Given the description of an element on the screen output the (x, y) to click on. 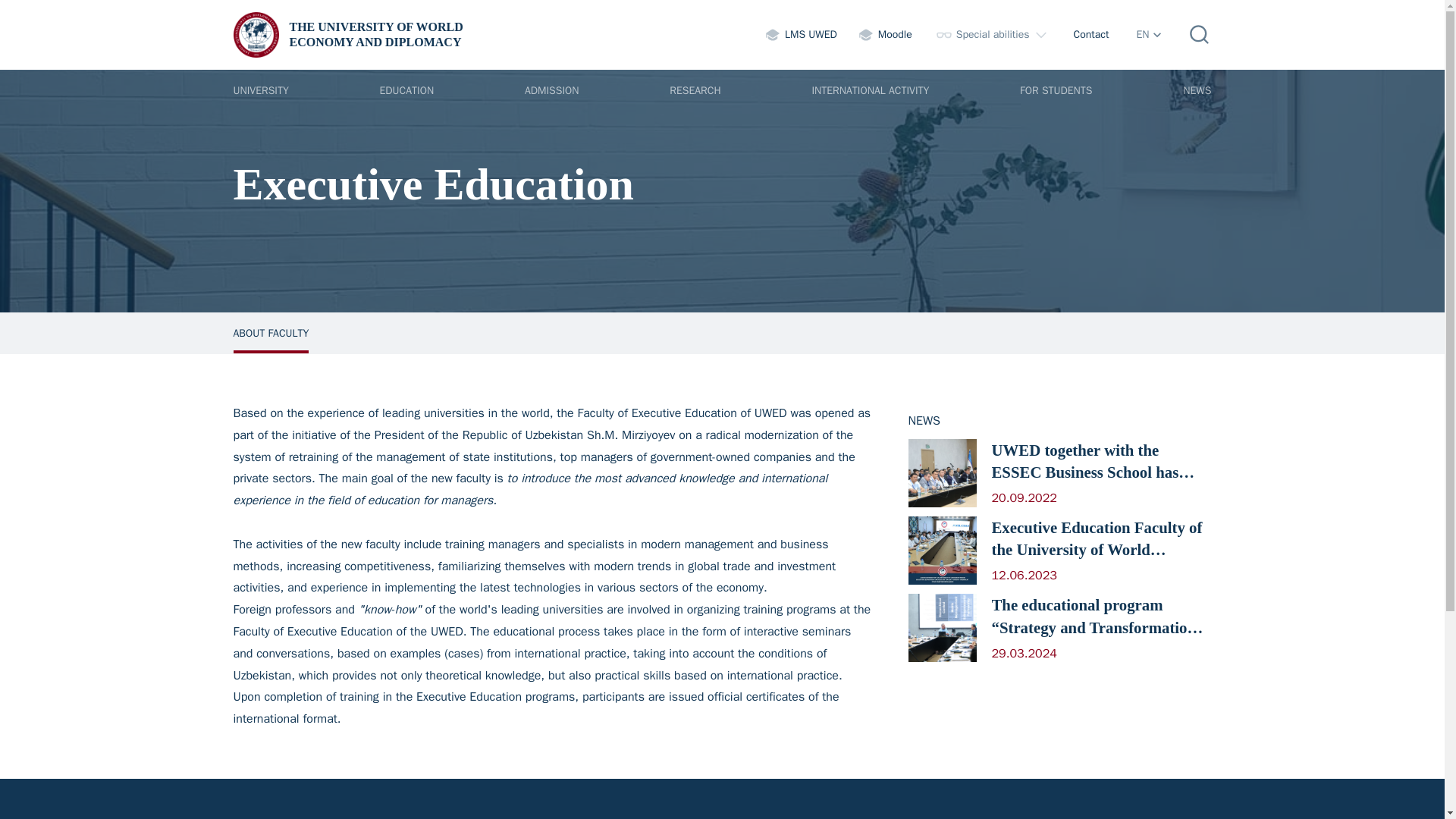
UNIVERSITY (260, 90)
EDUCATION (406, 90)
Moodle (885, 34)
LMS UWED (800, 34)
ADMISSION (353, 34)
SEARCH (551, 90)
EN (1199, 34)
Contact (1148, 34)
Special abilities (1090, 34)
